Given the description of an element on the screen output the (x, y) to click on. 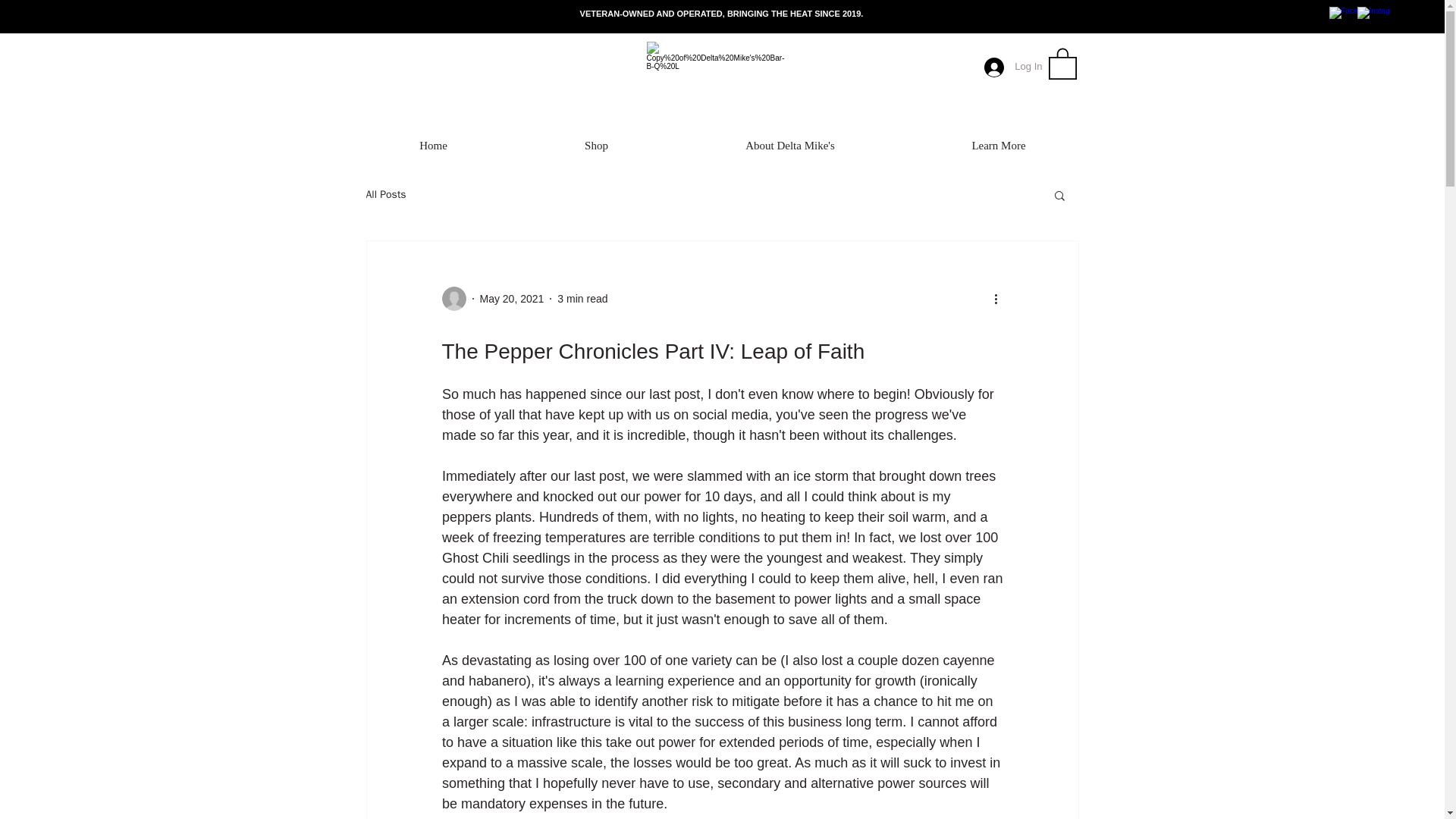
3 min read (582, 298)
Shop (596, 145)
May 20, 2021 (511, 298)
All Posts (385, 194)
Learn More (999, 145)
About Delta Mike's (789, 145)
Log In (1013, 67)
Home (432, 145)
